Given the description of an element on the screen output the (x, y) to click on. 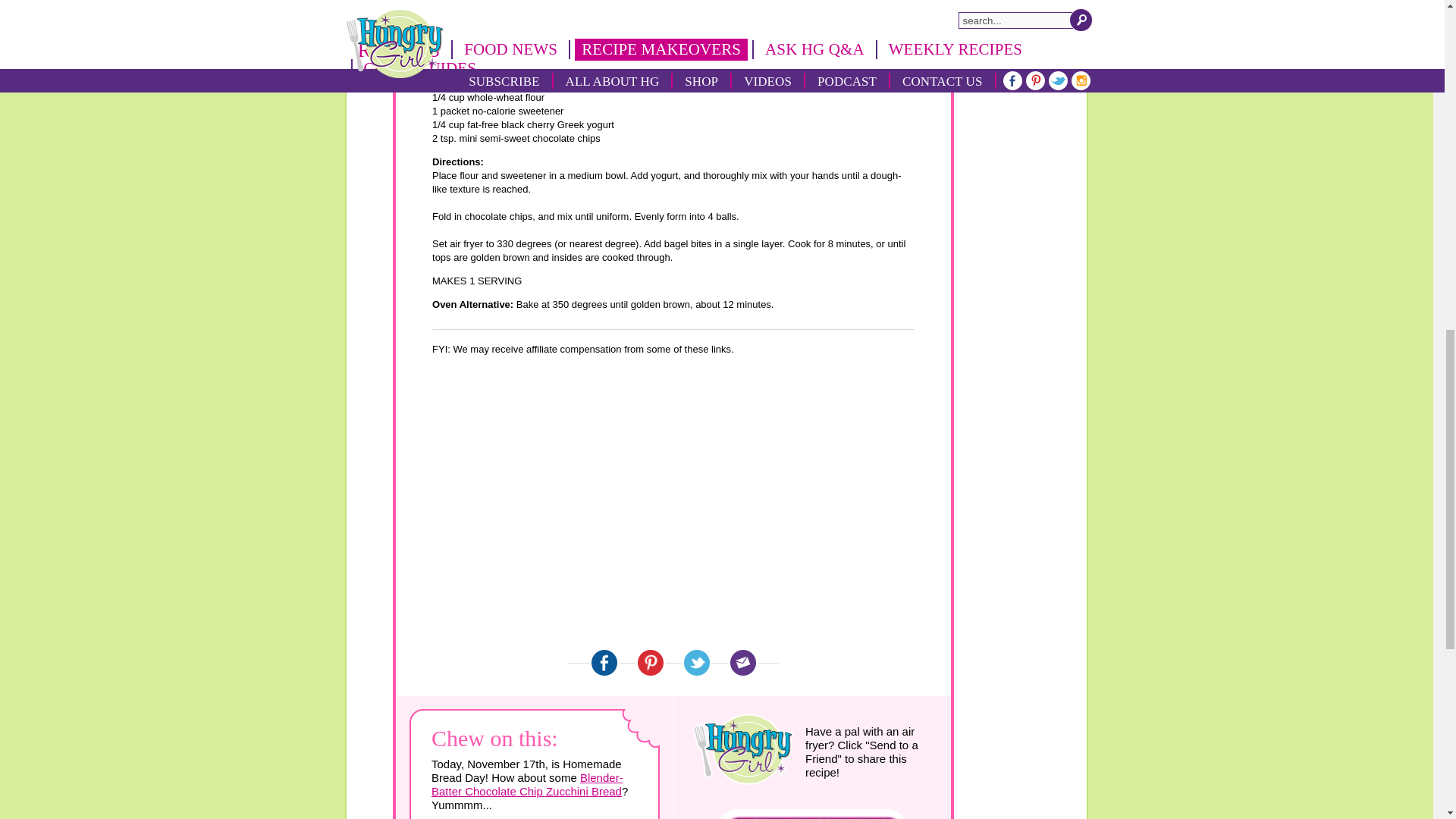
Vegetarian Recipes (555, 50)
Breakfast Recipes (571, 40)
5 Ingredients or Less (641, 50)
Dessert Recipes (801, 40)
Single Serving (719, 50)
